Given the description of an element on the screen output the (x, y) to click on. 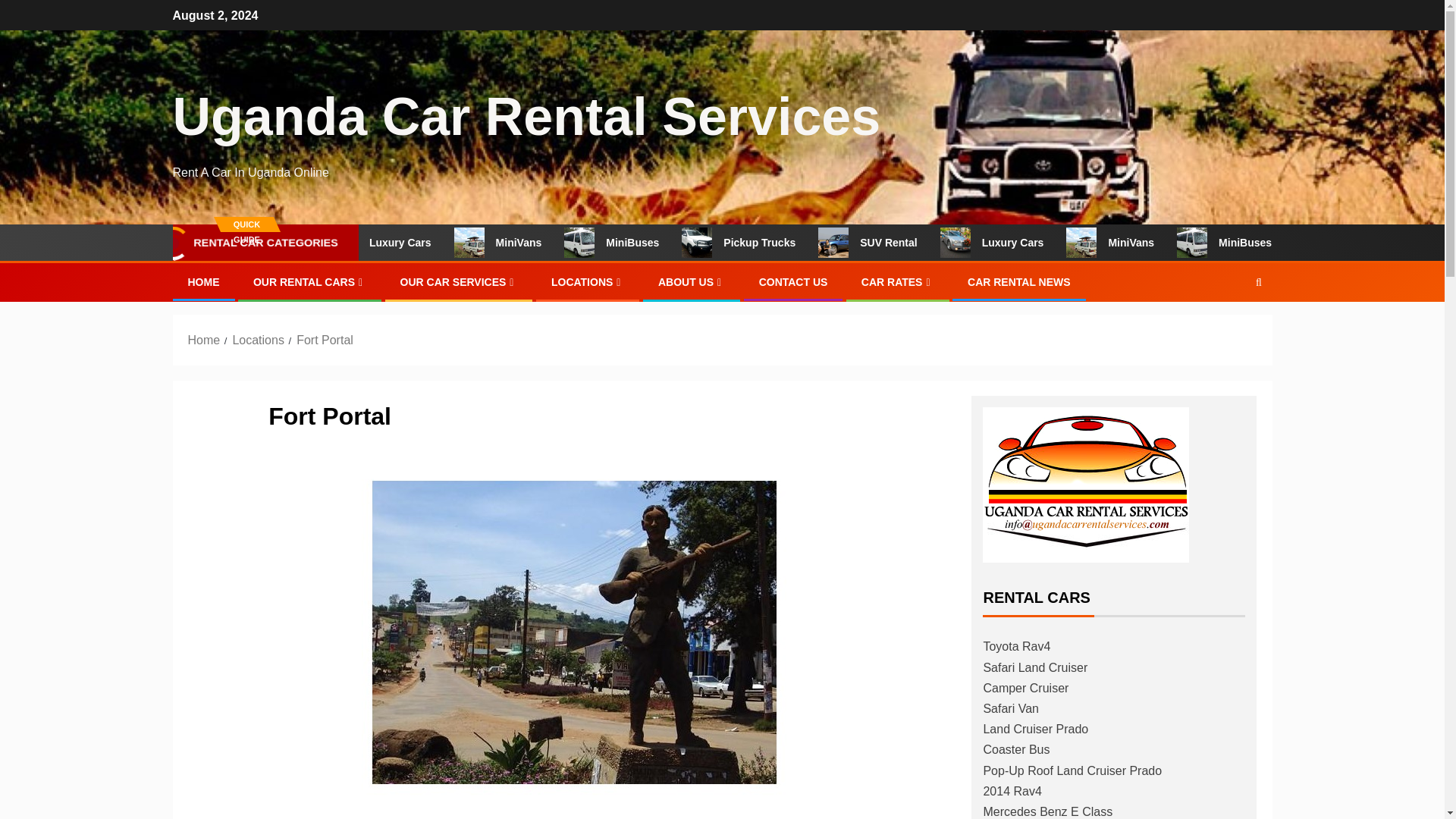
OUR RENTAL CARS (309, 282)
Uganda Car Rental Services (526, 116)
SUV Rental (913, 242)
Luxury Cars (427, 242)
MiniBuses (658, 242)
HOME (203, 282)
MiniBuses (1267, 242)
Pickup Trucks (784, 242)
Luxury Cars (1037, 242)
MiniVans (544, 242)
